Given the description of an element on the screen output the (x, y) to click on. 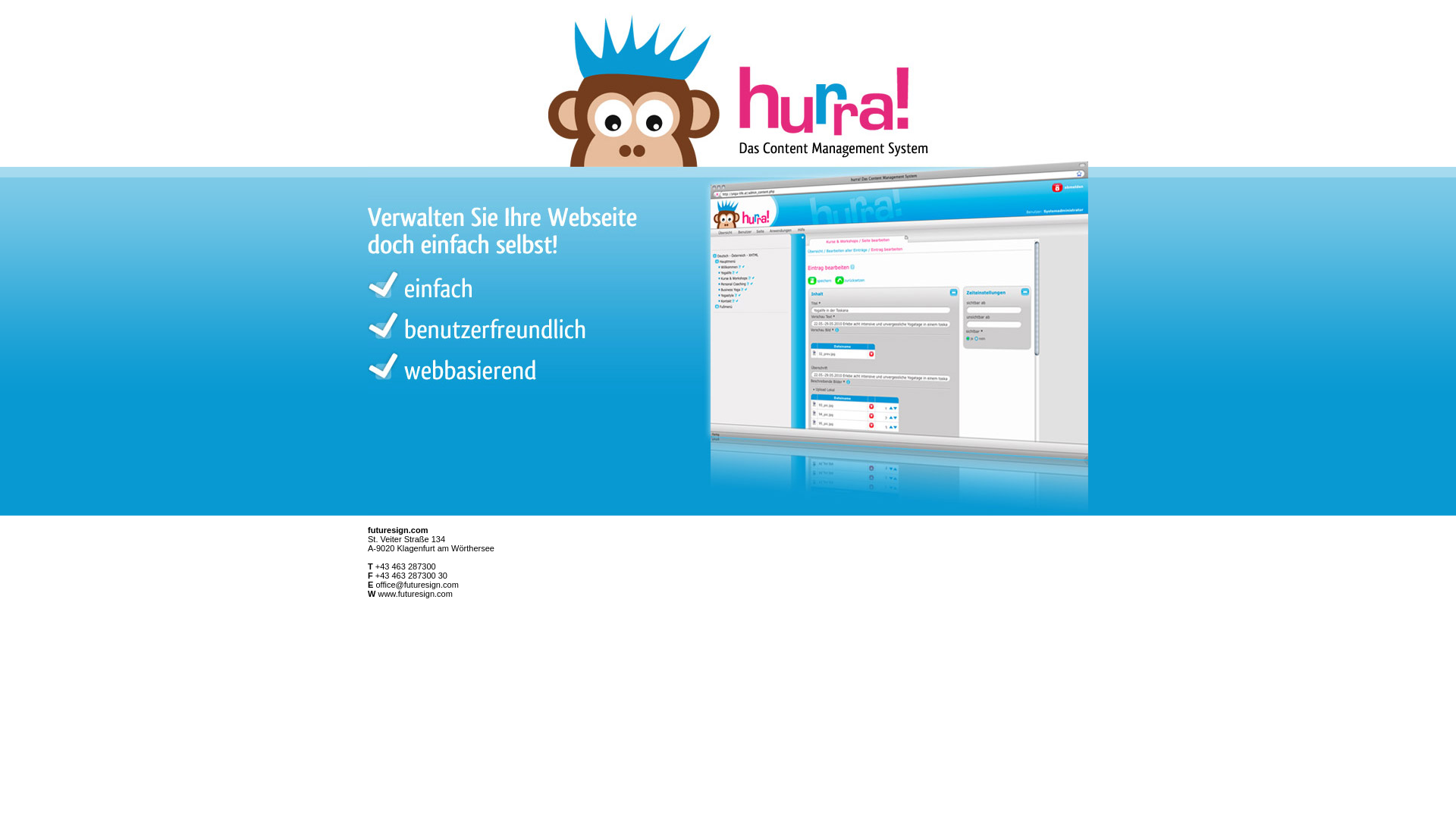
office@futuresign.com Element type: text (416, 584)
www.futuresign.com Element type: text (414, 593)
